Given the description of an element on the screen output the (x, y) to click on. 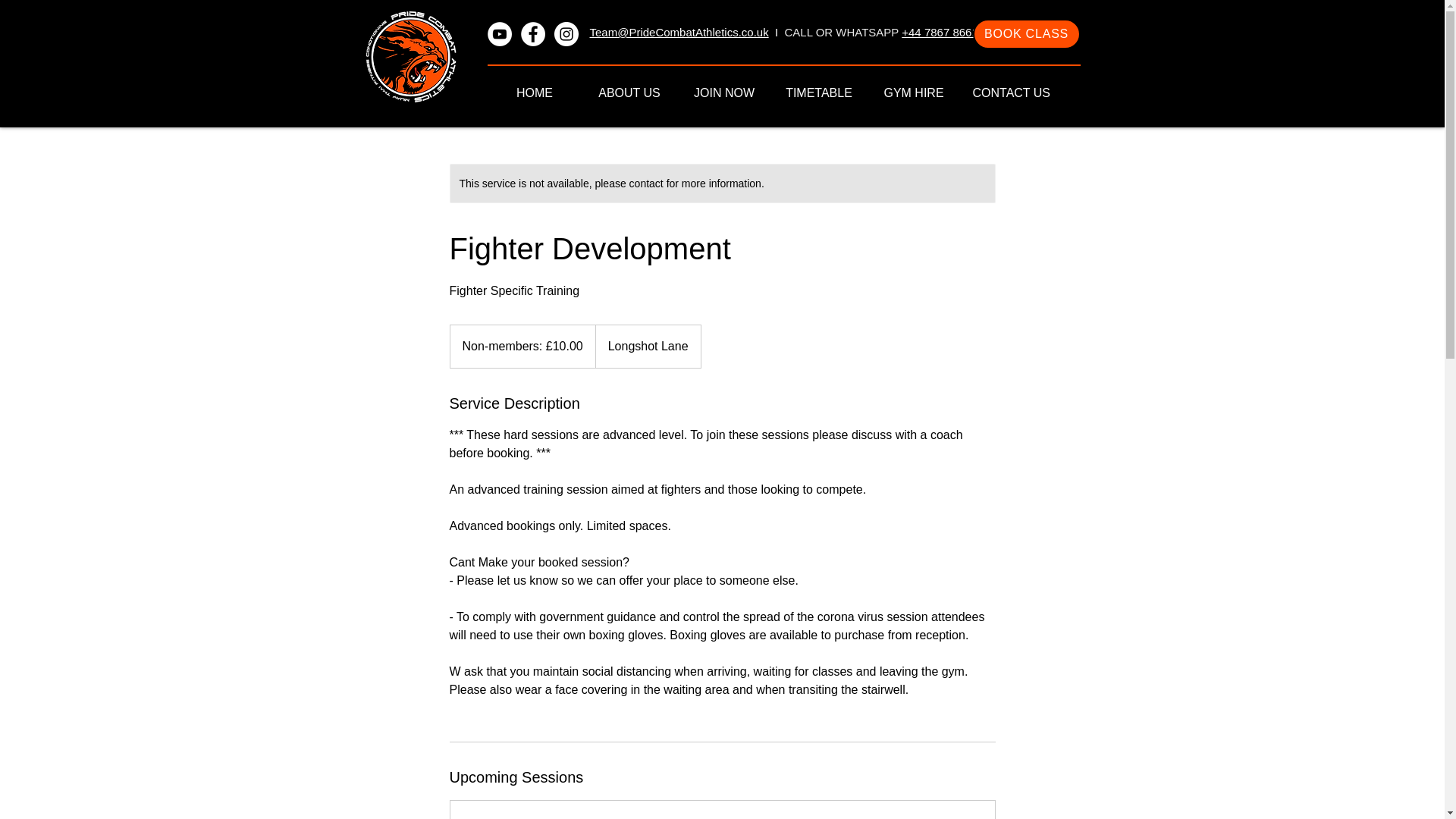
ABOUT US (629, 93)
TIMETABLE (818, 93)
GYM HIRE (913, 93)
CONTACT US (1008, 93)
JOIN NOW (724, 93)
HOME (533, 93)
BOOK CLASS (1026, 33)
